Given the description of an element on the screen output the (x, y) to click on. 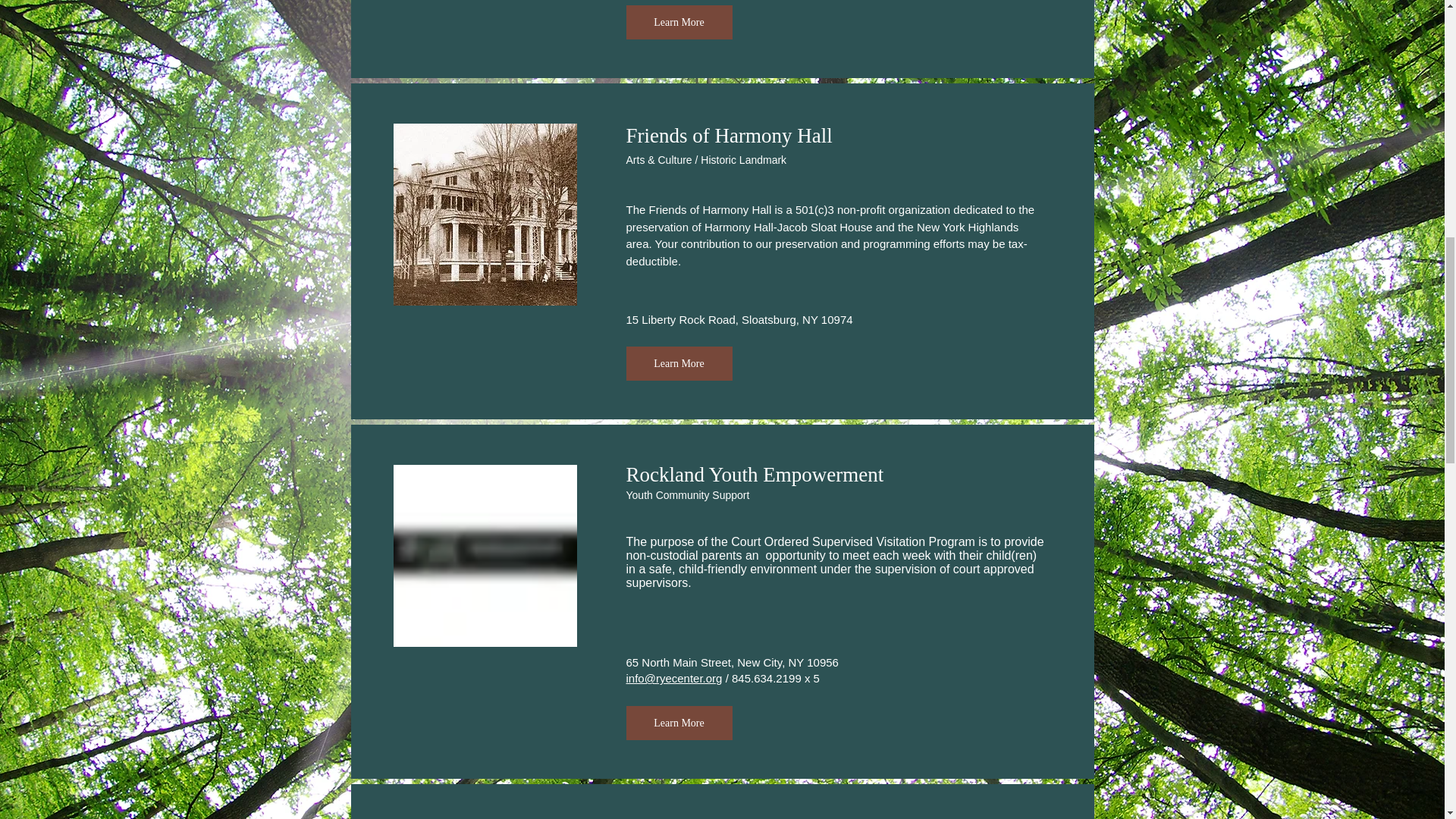
Learn More (679, 722)
Learn More (679, 363)
Learn More (679, 21)
